Given the description of an element on the screen output the (x, y) to click on. 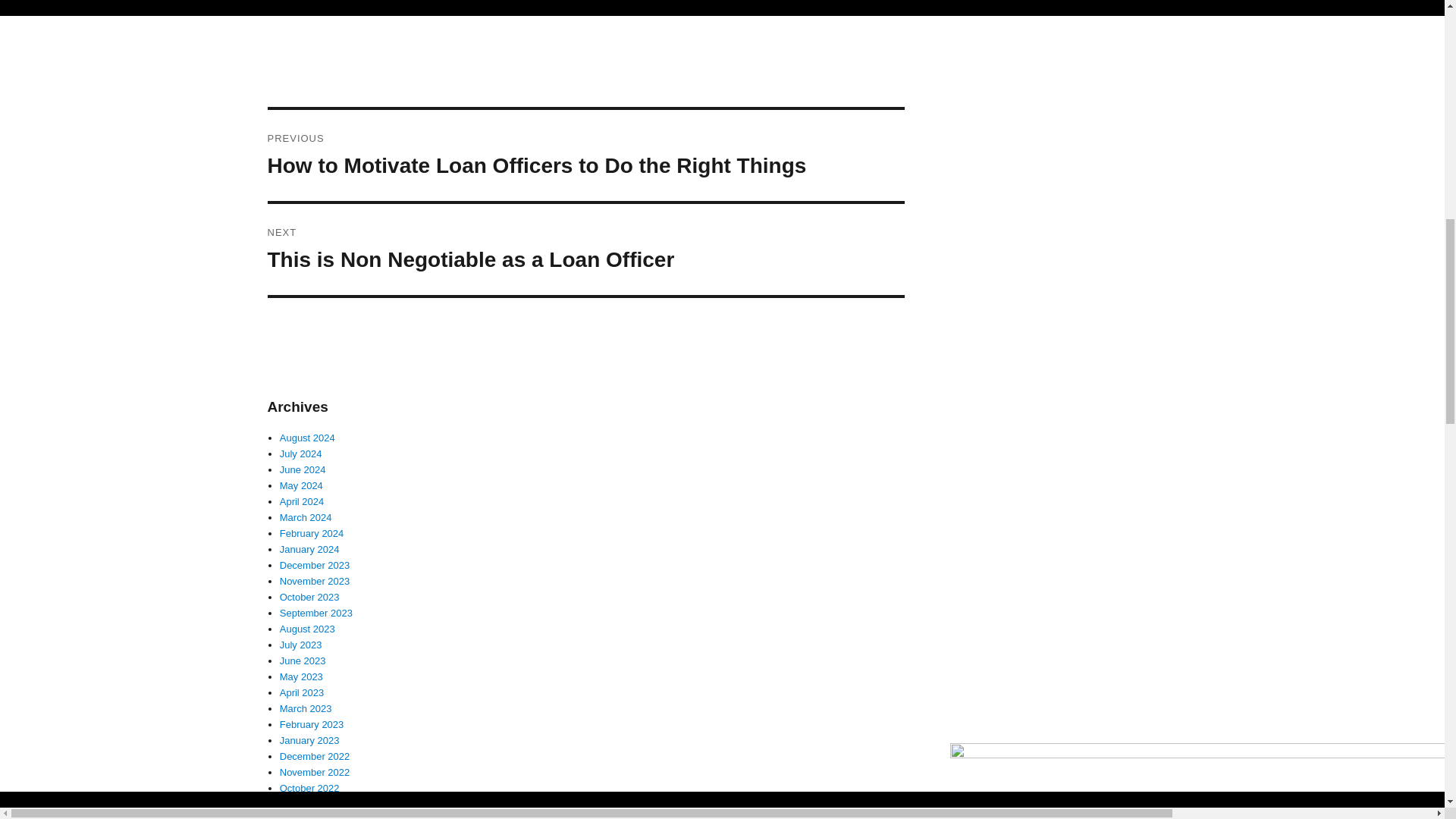
October 2023 (309, 596)
August 2024 (306, 437)
September 2023 (315, 613)
December 2022 (314, 756)
June 2024 (302, 469)
February 2024 (311, 532)
November 2023 (314, 581)
October 2022 (309, 787)
July 2023 (300, 644)
April 2023 (301, 692)
May 2024 (301, 485)
April 2024 (585, 248)
March 2024 (301, 501)
